Given the description of an element on the screen output the (x, y) to click on. 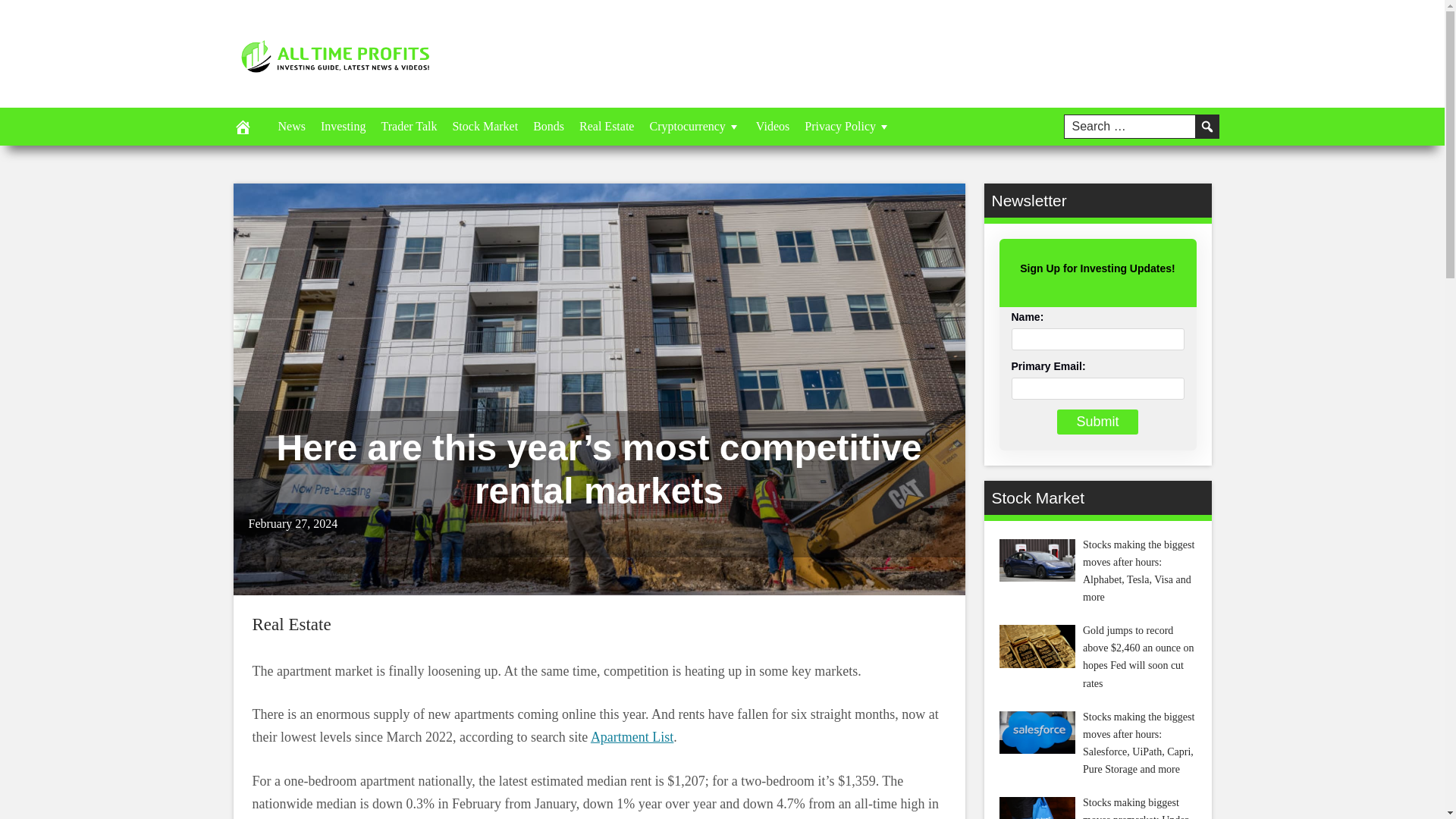
News (291, 126)
Submit (1097, 421)
Privacy Policy (847, 126)
Real Estate (290, 624)
Apartment List (631, 736)
Real Estate (290, 624)
Bonds (548, 126)
Videos (772, 126)
Trader Talk (408, 126)
Investing (343, 126)
Cryptocurrency (695, 126)
Real Estate (607, 126)
Stock Market (484, 126)
